Given the description of an element on the screen output the (x, y) to click on. 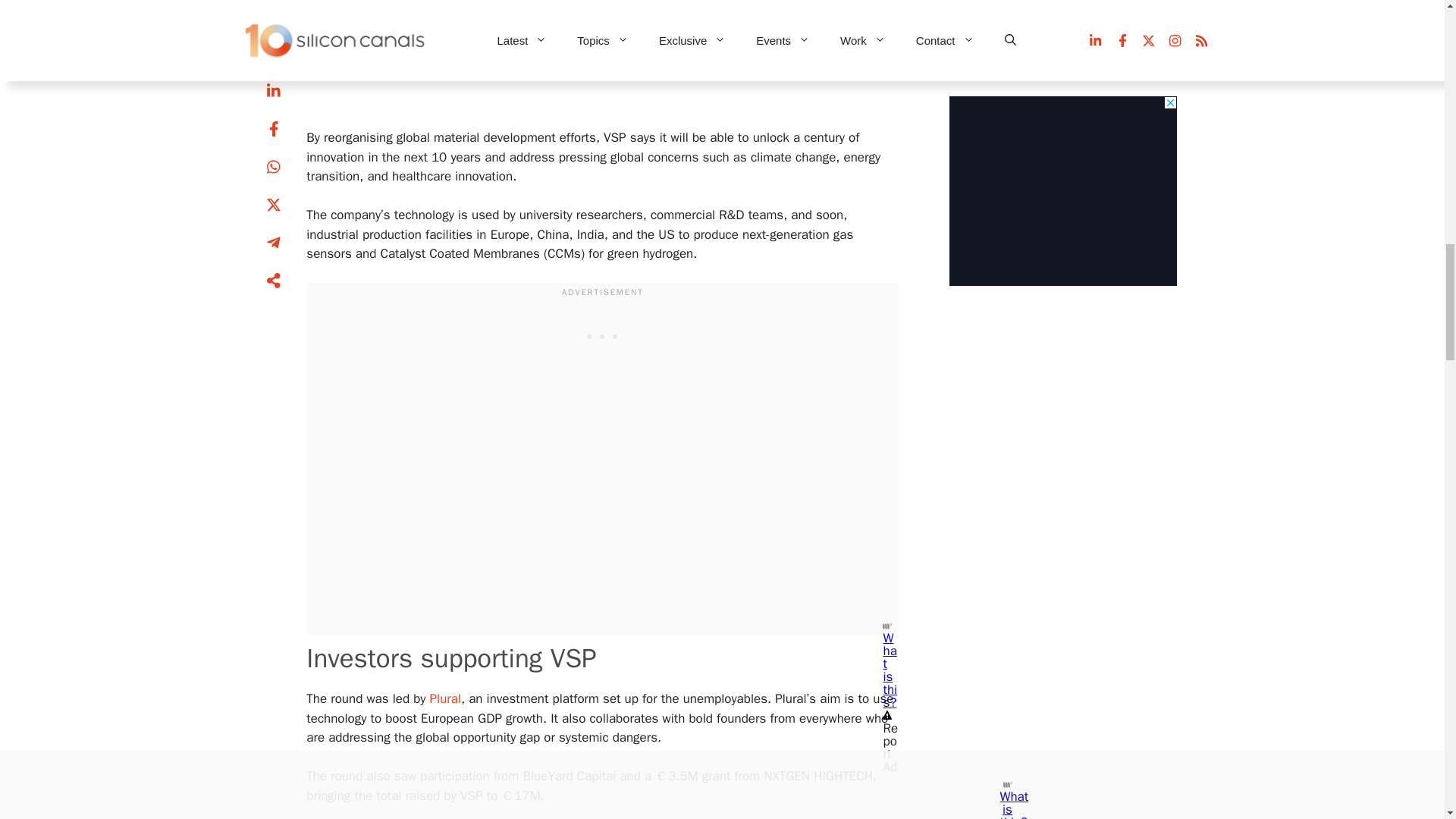
3rd party ad content (602, 335)
